Given the description of an element on the screen output the (x, y) to click on. 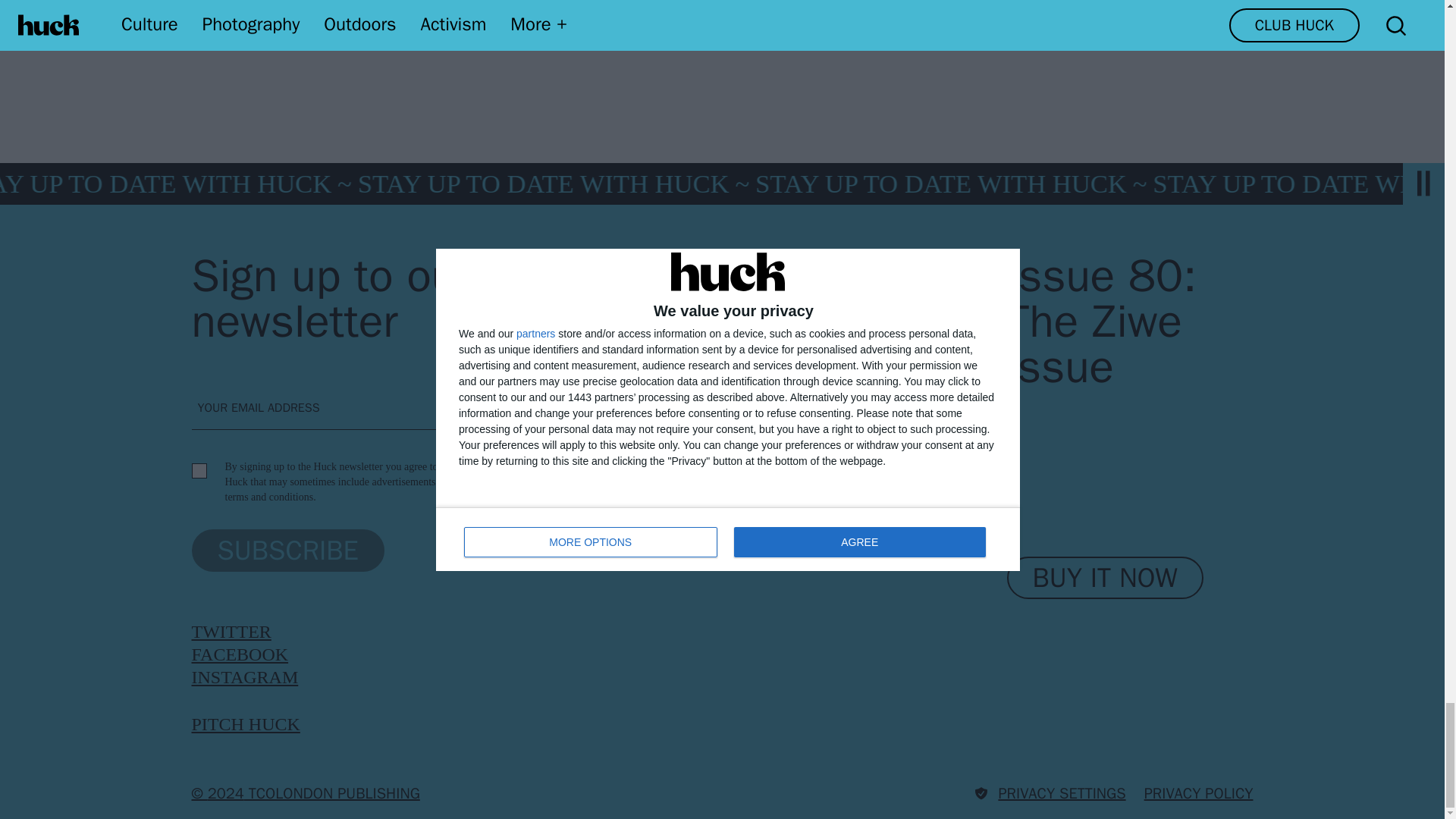
TWITTER (230, 631)
INSTAGRAM (244, 677)
on (198, 470)
LARS HAMER (515, 14)
SUBSCRIBE (287, 550)
REPORTAGE (256, 14)
... (945, 14)
ICELAND (383, 14)
BUY IT NOW (1105, 577)
PIRATE PARTY (834, 14)
PITCH HUCK (244, 723)
PANAMA PAPERS (673, 14)
FACEBOOK (239, 654)
